Given the description of an element on the screen output the (x, y) to click on. 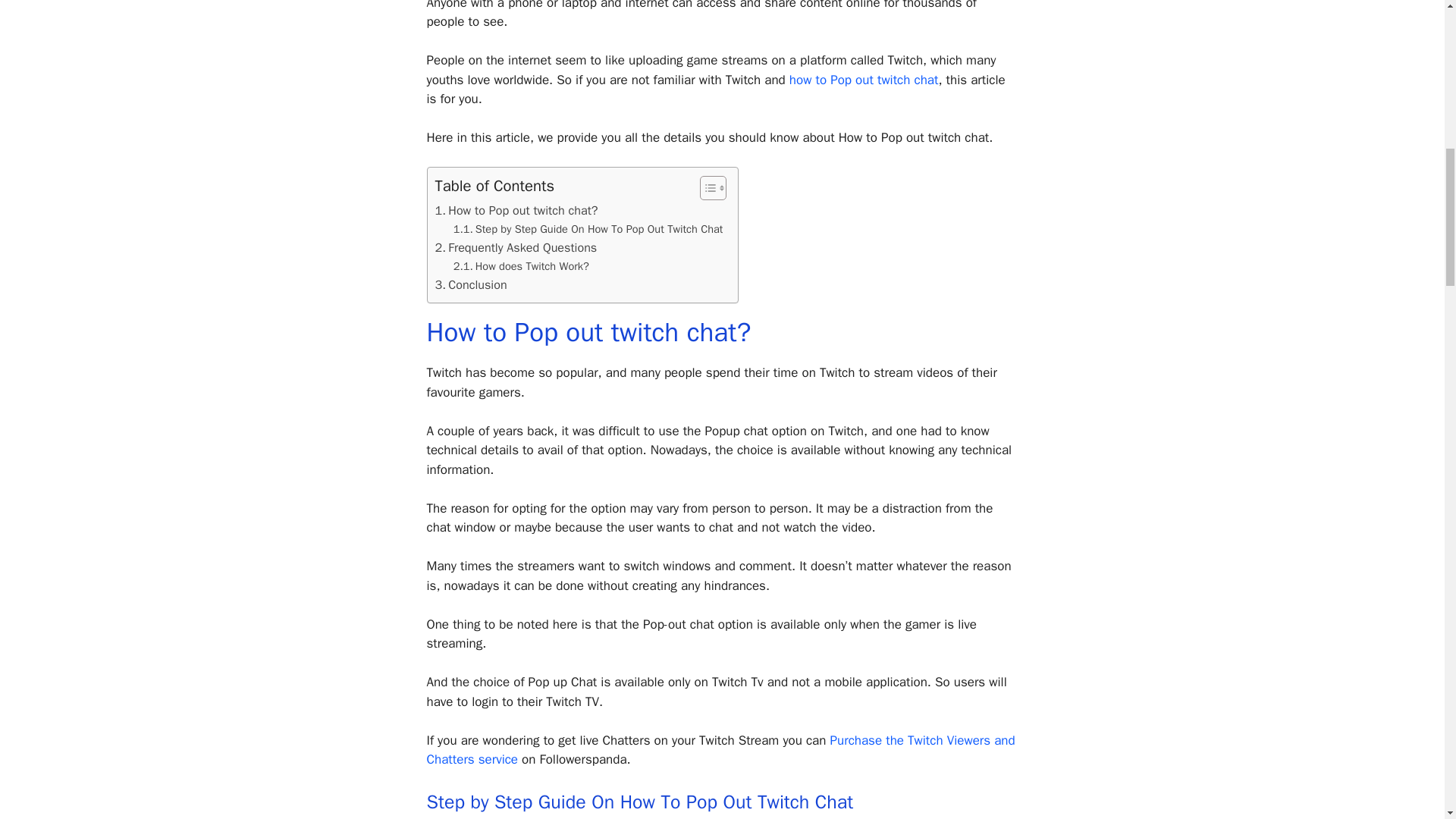
How does Twitch Work?      (528, 266)
how to Pop out twitch chat (864, 79)
Conclusion (470, 284)
Step by Step Guide On How To Pop Out Twitch Chat (587, 229)
Frequently Asked Questions (515, 247)
Conclusion (470, 284)
Frequently Asked Questions (515, 247)
How to Pop out twitch chat? (516, 210)
How to Pop out twitch chat? (516, 210)
